Given the description of an element on the screen output the (x, y) to click on. 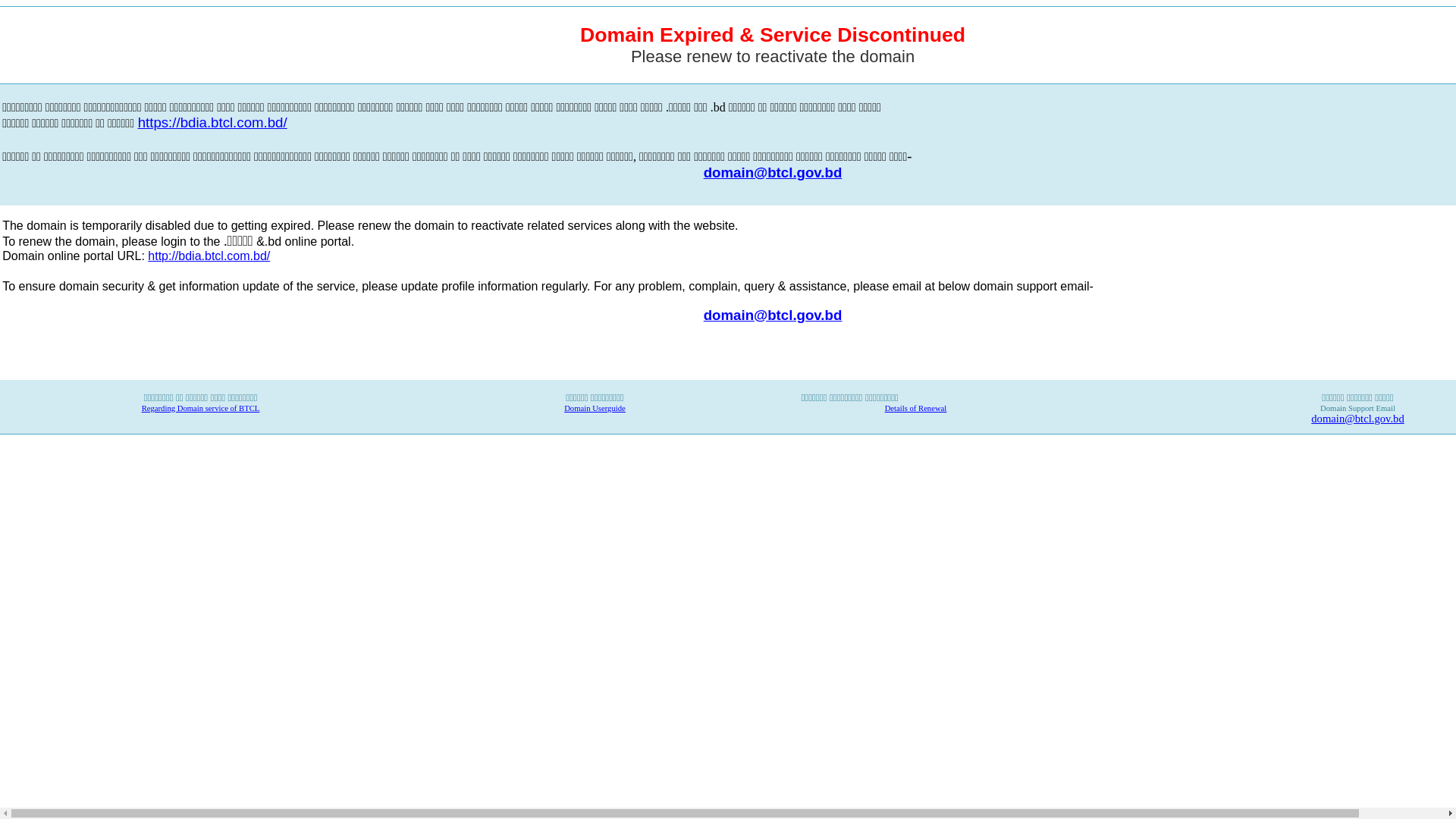
domain@btcl.gov.bd Element type: text (772, 172)
Regarding Domain service of BTCL Element type: text (200, 408)
https://bdia.btcl.com.bd/ Element type: text (212, 123)
Details of Renewal Element type: text (915, 408)
domain@btcl.gov.bd Element type: text (1357, 418)
http://bdia.btcl.com.bd/ Element type: text (208, 256)
domain@btcl.gov.bd Element type: text (772, 314)
Domain Userguide Element type: text (594, 408)
